Given the description of an element on the screen output the (x, y) to click on. 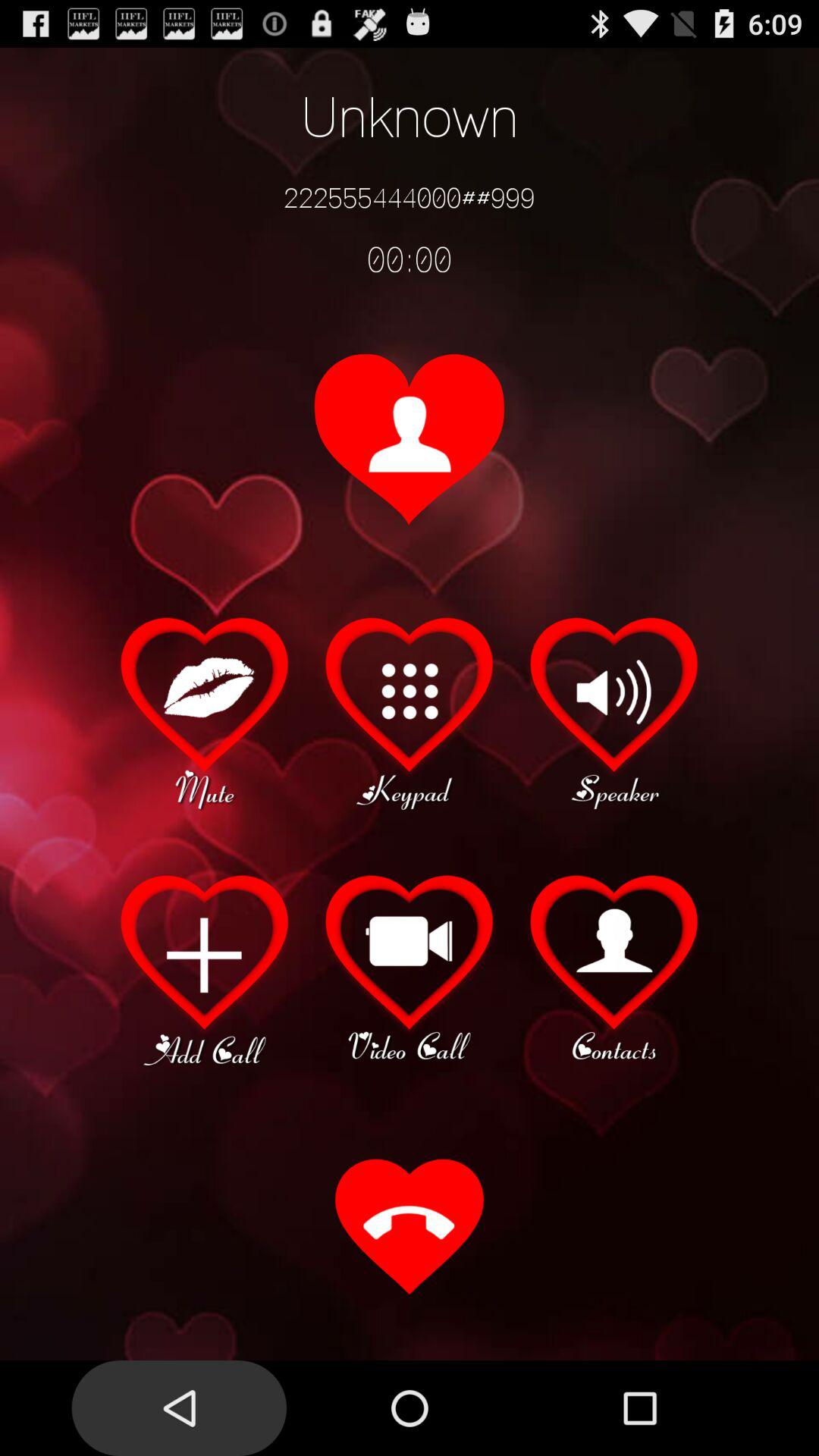
click for contacts (613, 968)
